Given the description of an element on the screen output the (x, y) to click on. 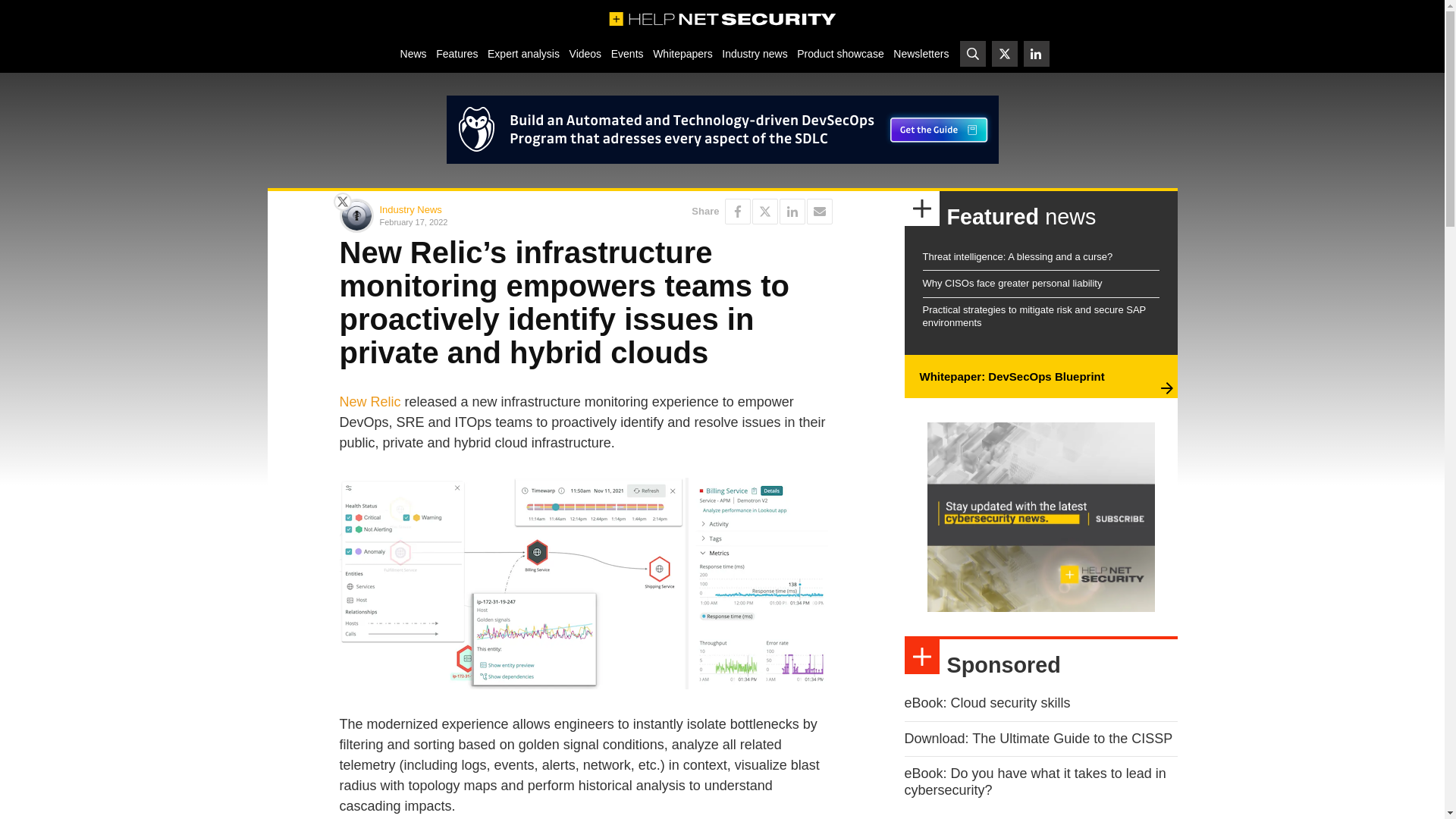
Features (456, 53)
eBook: Do you have what it takes to lead in cybersecurity? (1035, 781)
Industry News (409, 209)
Download: The Ultimate Guide to the CISSP (1038, 738)
Expert analysis (523, 53)
Videos (584, 53)
Why CISOs face greater personal liability (1011, 283)
New Relic infrastructure monitoring (585, 583)
Newsletters (920, 53)
Product showcase (840, 53)
Why CISOs face greater personal liability (1011, 283)
News (412, 53)
